Given the description of an element on the screen output the (x, y) to click on. 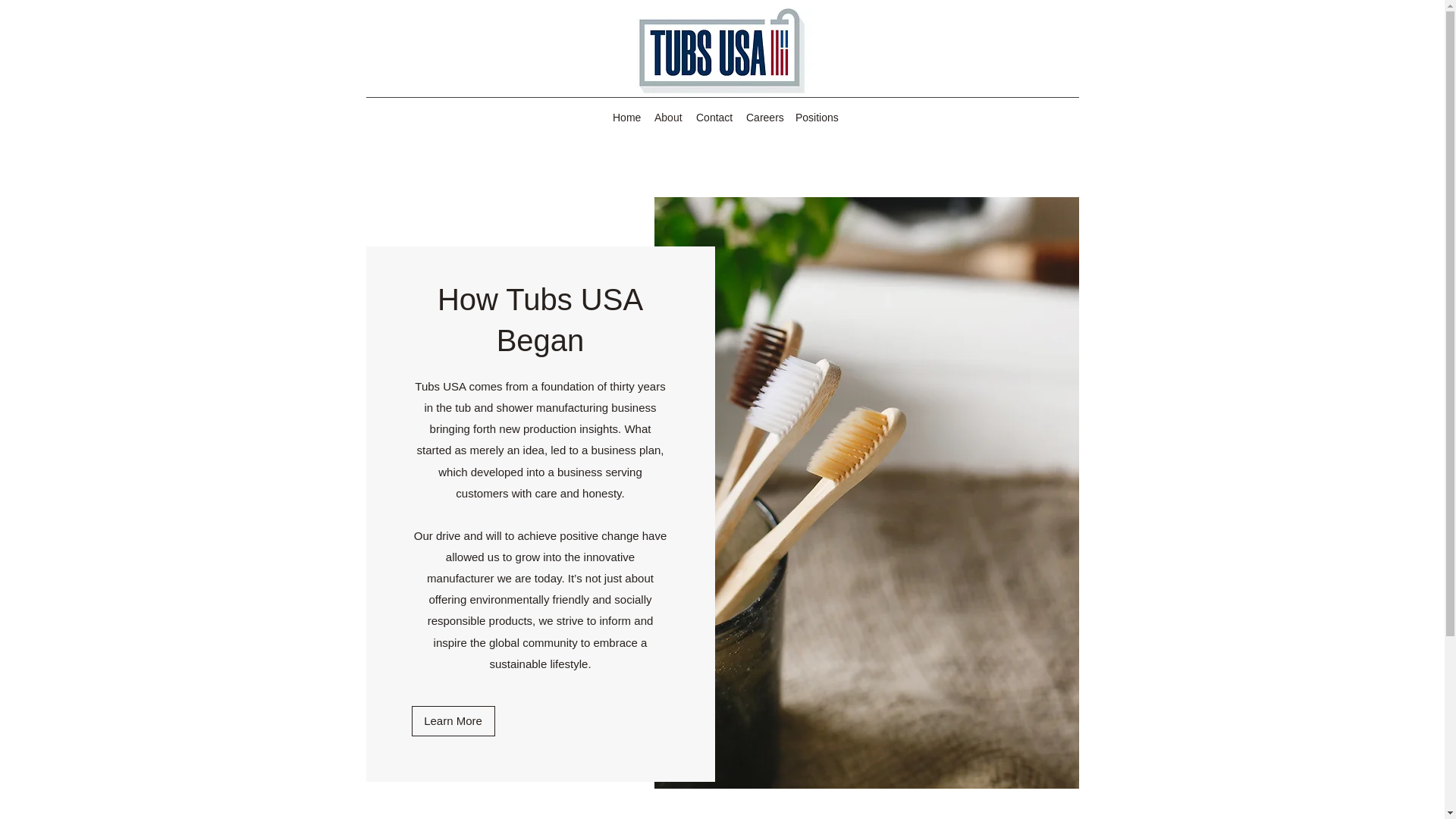
Contact (713, 117)
About (667, 117)
Home (625, 117)
Positions (813, 117)
Careers (762, 117)
